Given the description of an element on the screen output the (x, y) to click on. 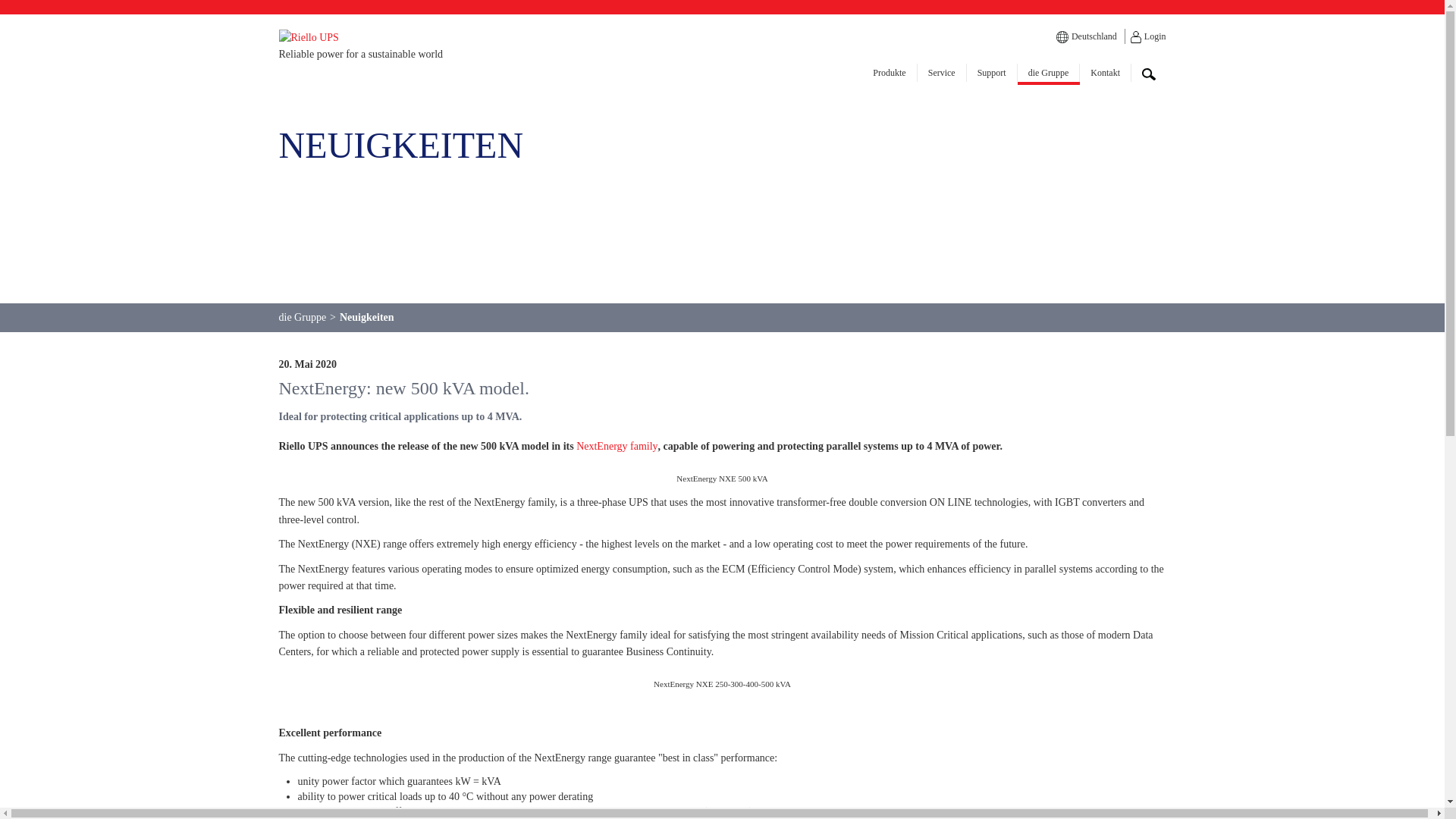
Produkte (889, 72)
Riello UPS (309, 36)
Deutschland (1093, 36)
Login (1155, 36)
